Given the description of an element on the screen output the (x, y) to click on. 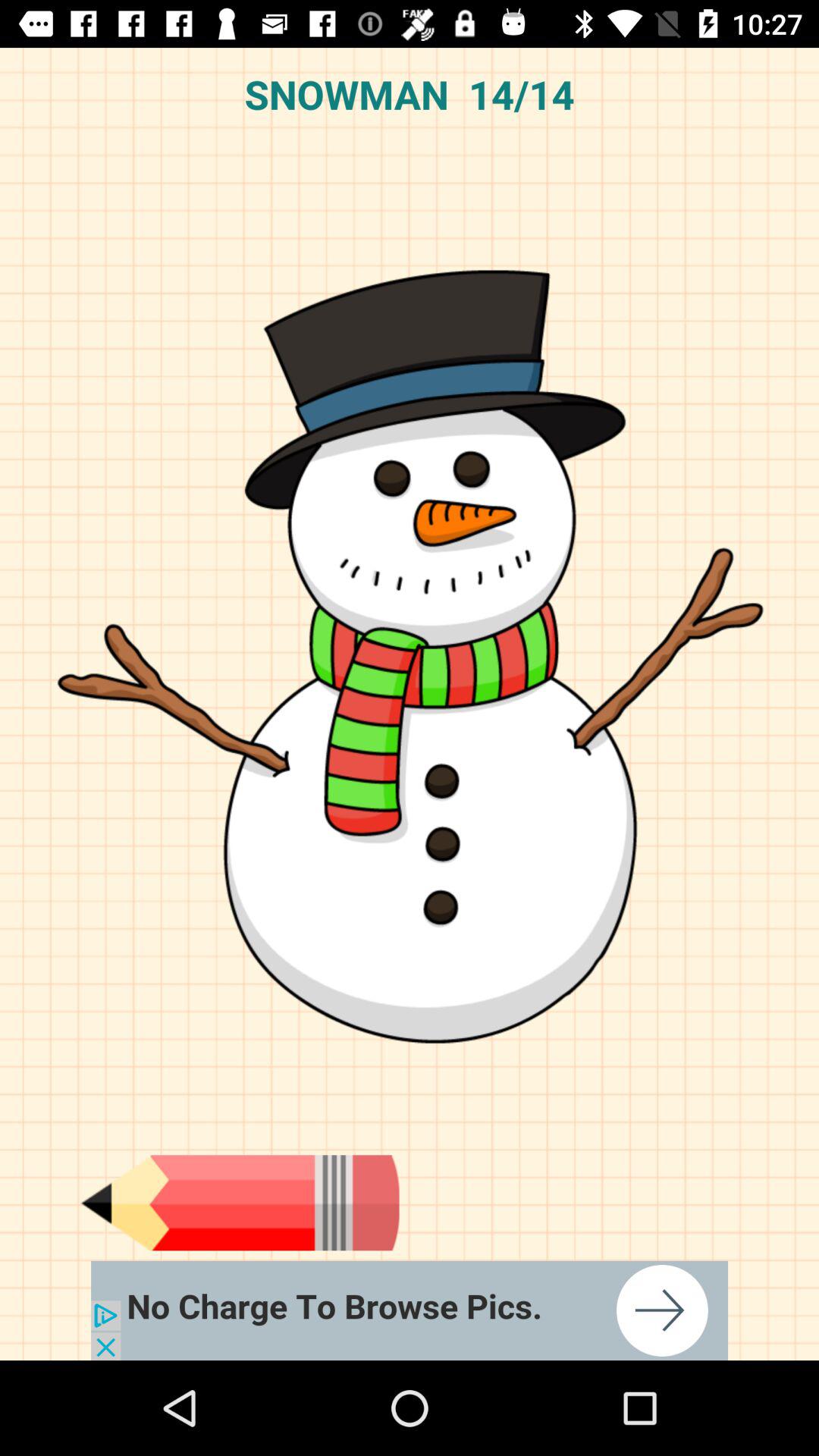
edit image (239, 1202)
